Given the description of an element on the screen output the (x, y) to click on. 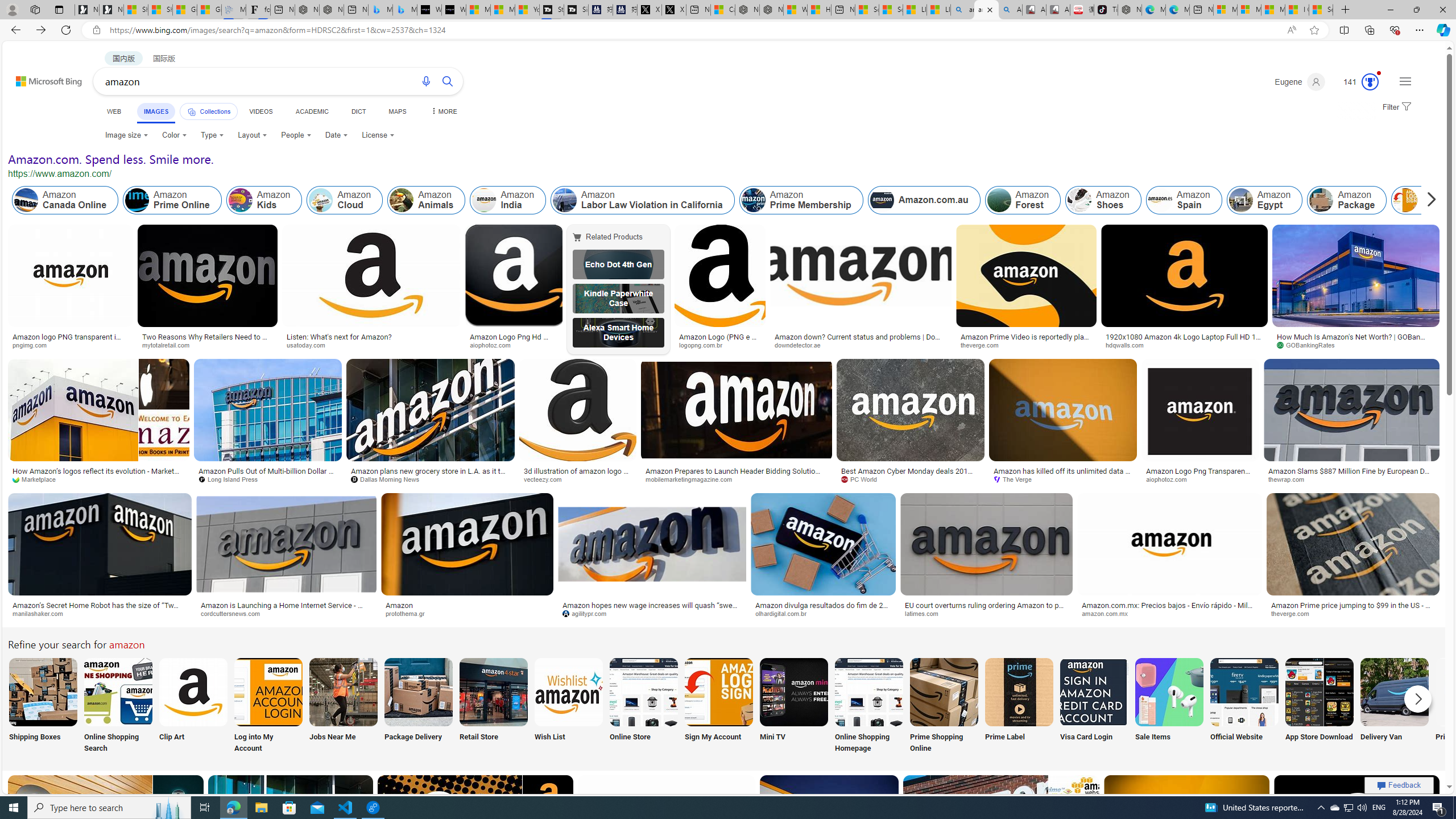
Layout (253, 135)
Amazon Log into My Account Log into My Account (268, 706)
Amazon Labor Law Violation in California (642, 199)
Dallas Morning News (429, 479)
Amazon Kids (263, 199)
Alexa Smart Home Devices (617, 332)
Amazon Mini TV Mini TV (794, 706)
Image size (126, 135)
